Given the description of an element on the screen output the (x, y) to click on. 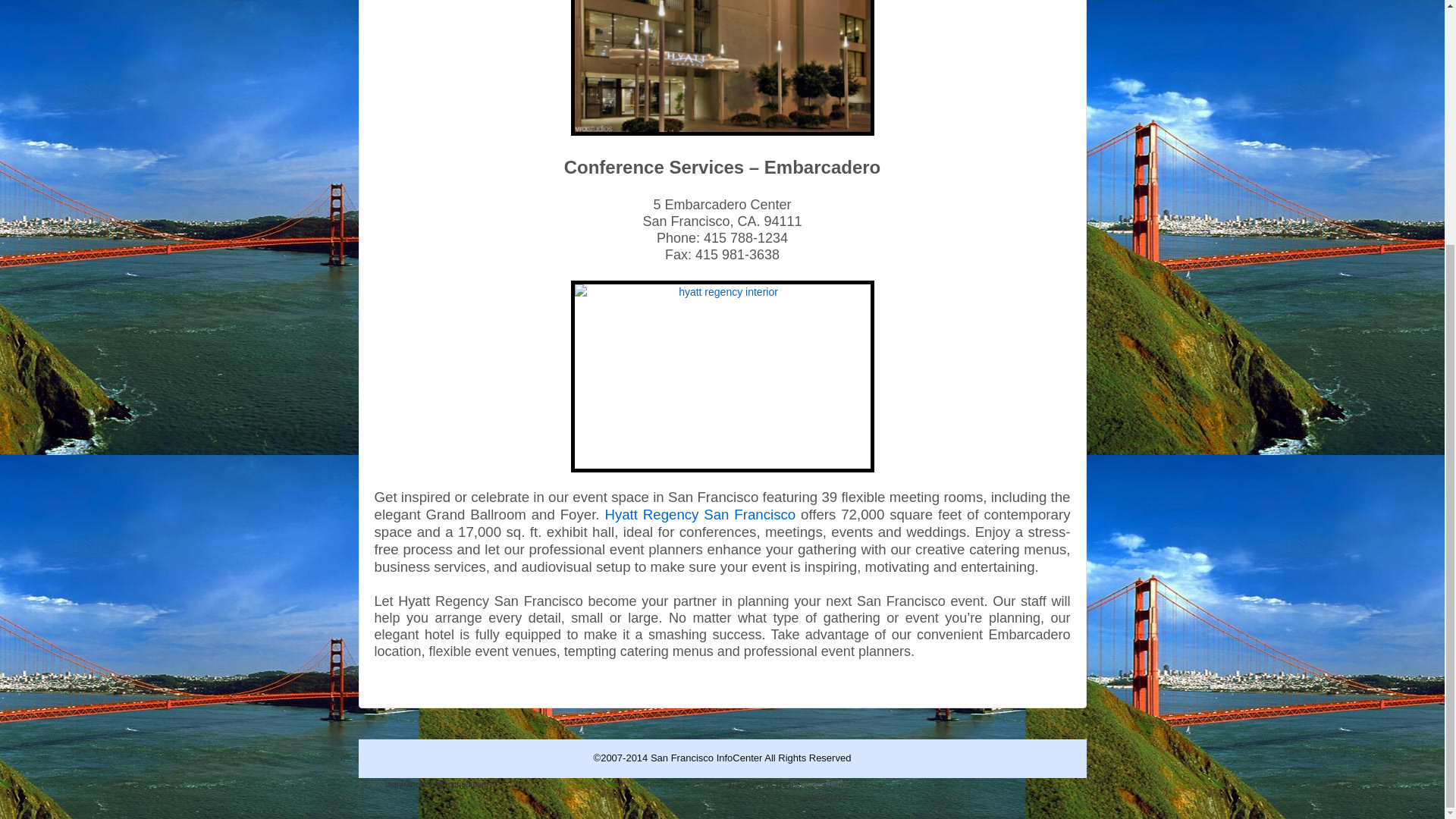
Responsive Theme (764, 783)
WordPress (825, 796)
sanfranciscoinfocenter.com (436, 783)
sanfranciscoinfocenter.com (436, 783)
Hyatt Regency San Francisco (699, 514)
WordPress (825, 796)
Responsive Theme (764, 783)
